Given the description of an element on the screen output the (x, y) to click on. 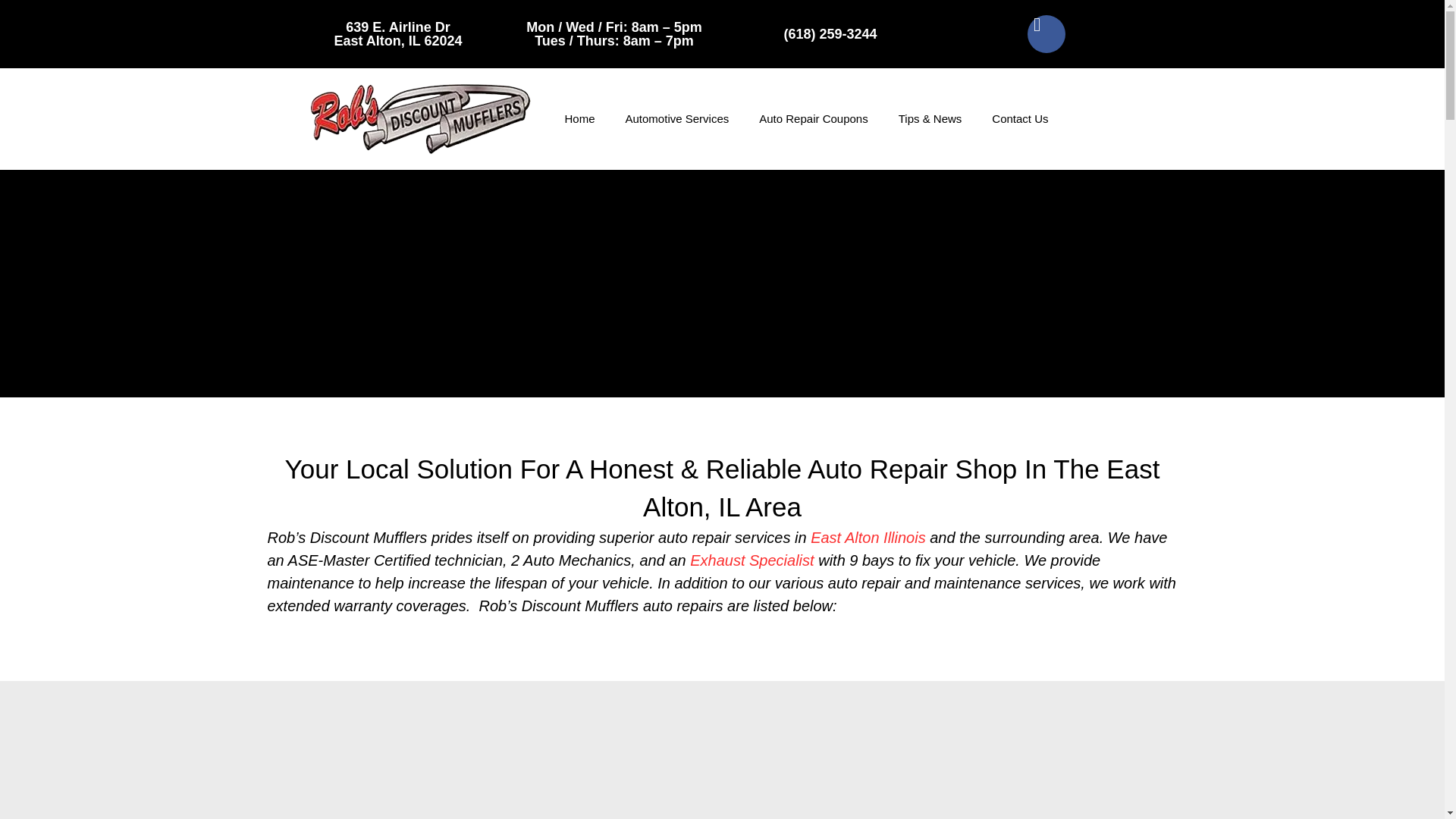
East Alton Illinois (868, 537)
Automotive Services (677, 118)
Home (579, 118)
Exhaust Specialist (751, 560)
Auto Repair Coupons (813, 118)
Contact Us (1019, 118)
